Given the description of an element on the screen output the (x, y) to click on. 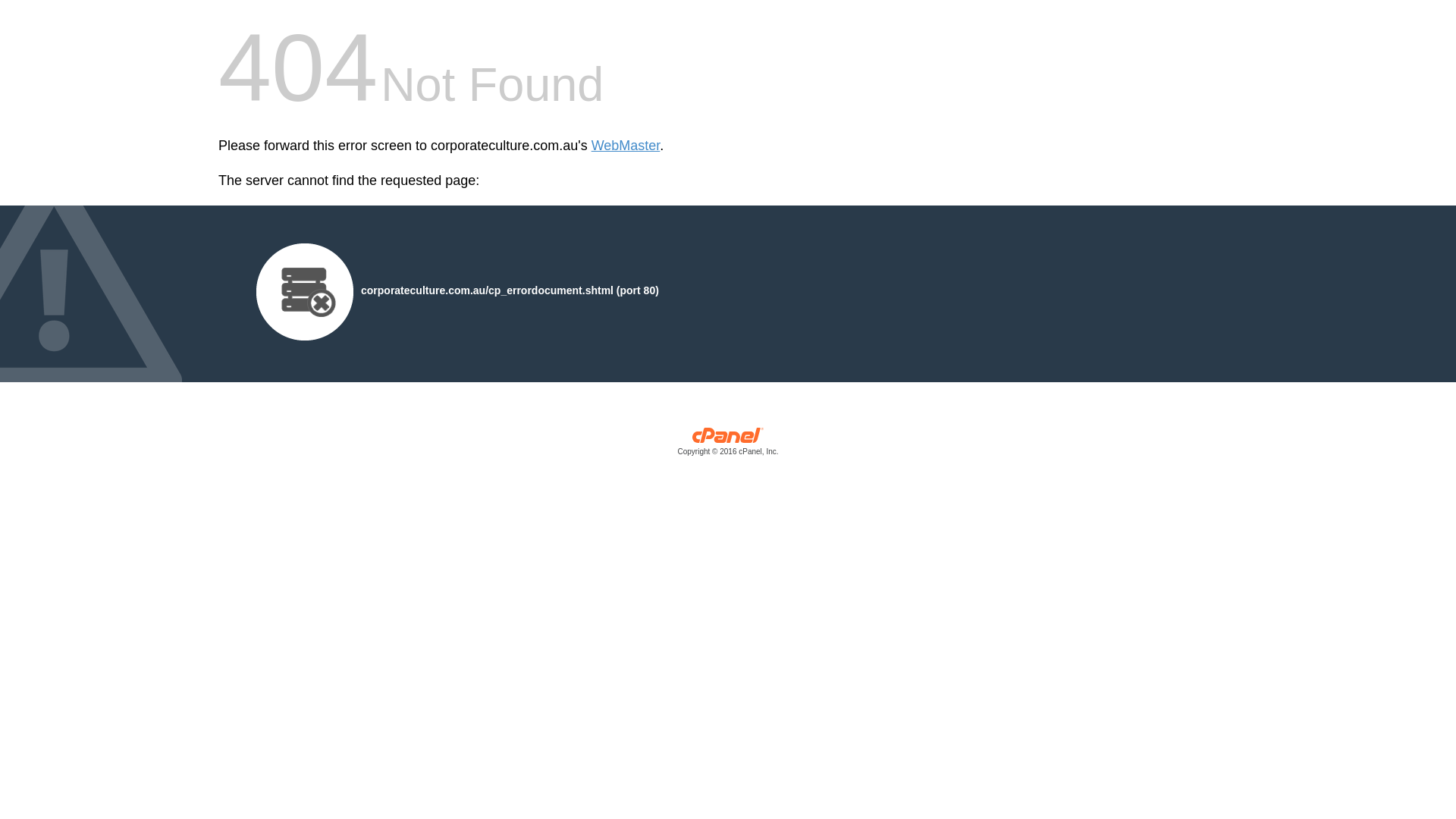
WebMaster Element type: text (625, 145)
